Given the description of an element on the screen output the (x, y) to click on. 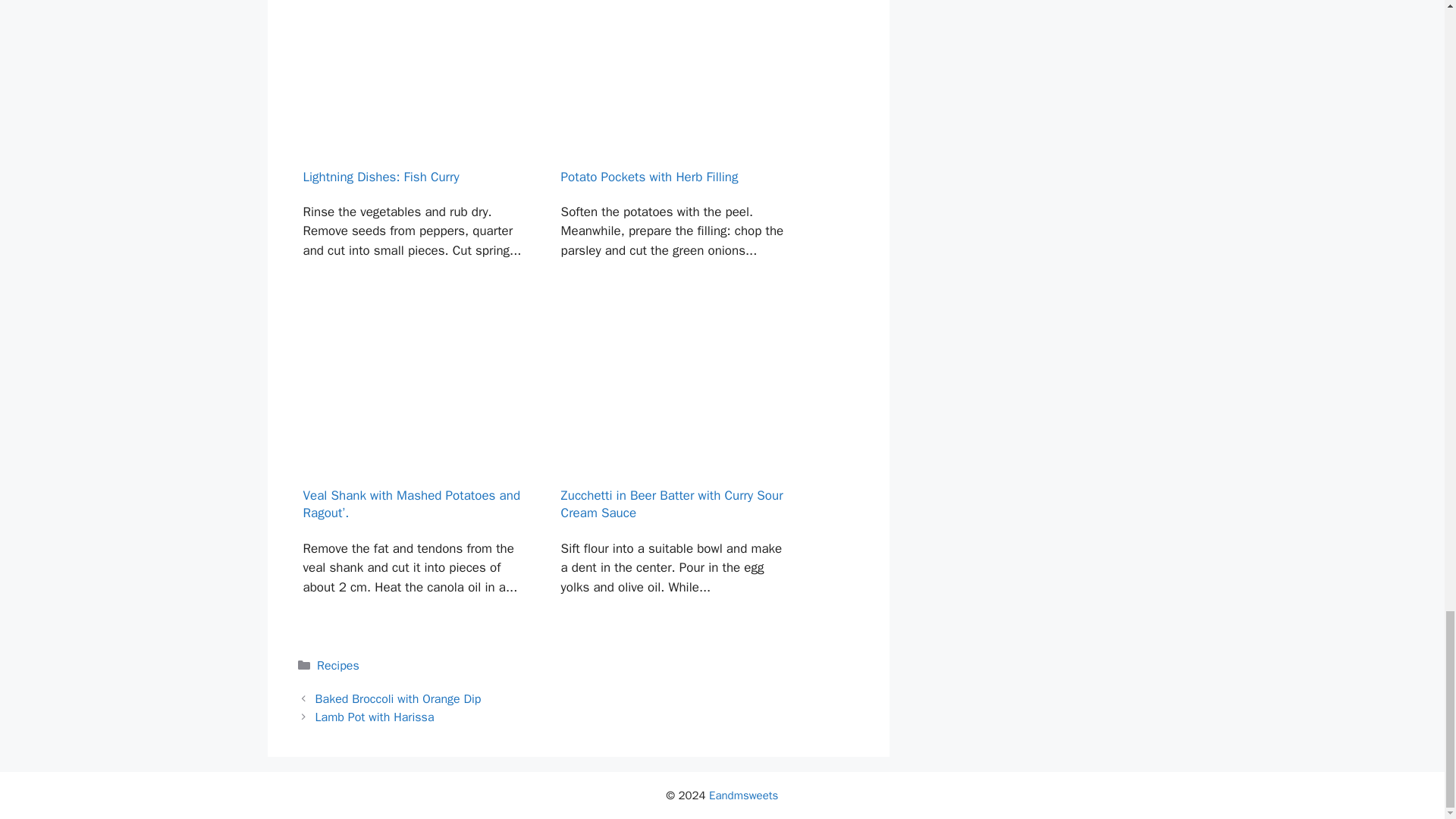
Recipes (338, 665)
Lamb Pot with Harissa (374, 717)
Baked Broccoli with Orange Dip (398, 698)
